Given the description of an element on the screen output the (x, y) to click on. 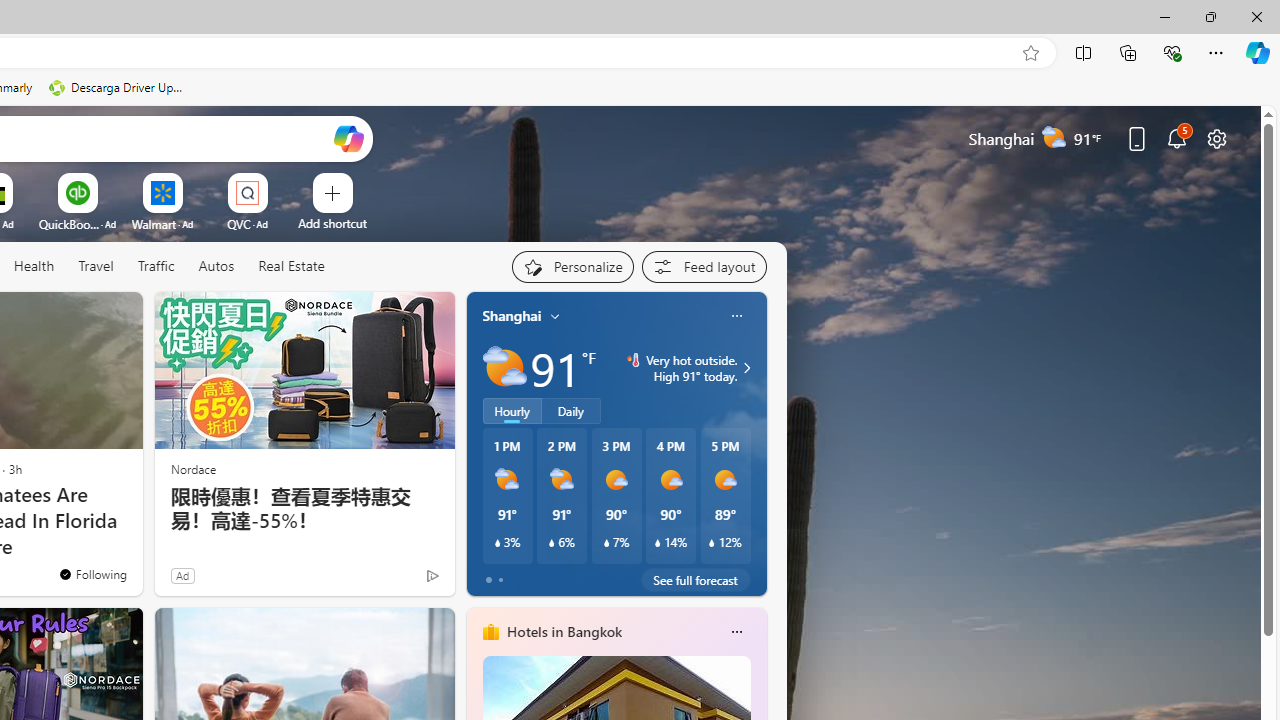
Feed settings (703, 266)
Class: weather-arrow-glyph (746, 367)
Add a site (332, 223)
Shanghai (511, 315)
Class: weather-current-precipitation-glyph (712, 543)
Descarga Driver Updater (118, 88)
